Given the description of an element on the screen output the (x, y) to click on. 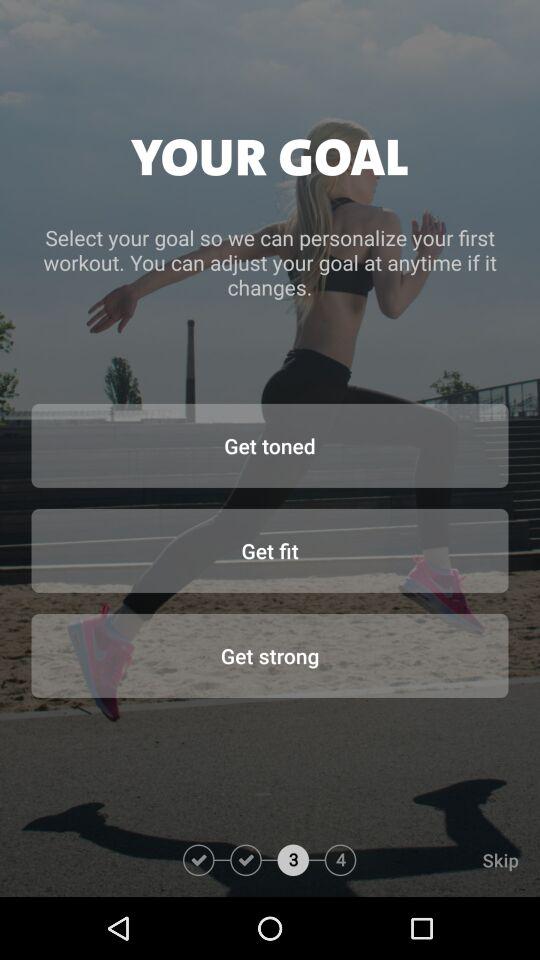
press icon below the get fit (269, 655)
